Given the description of an element on the screen output the (x, y) to click on. 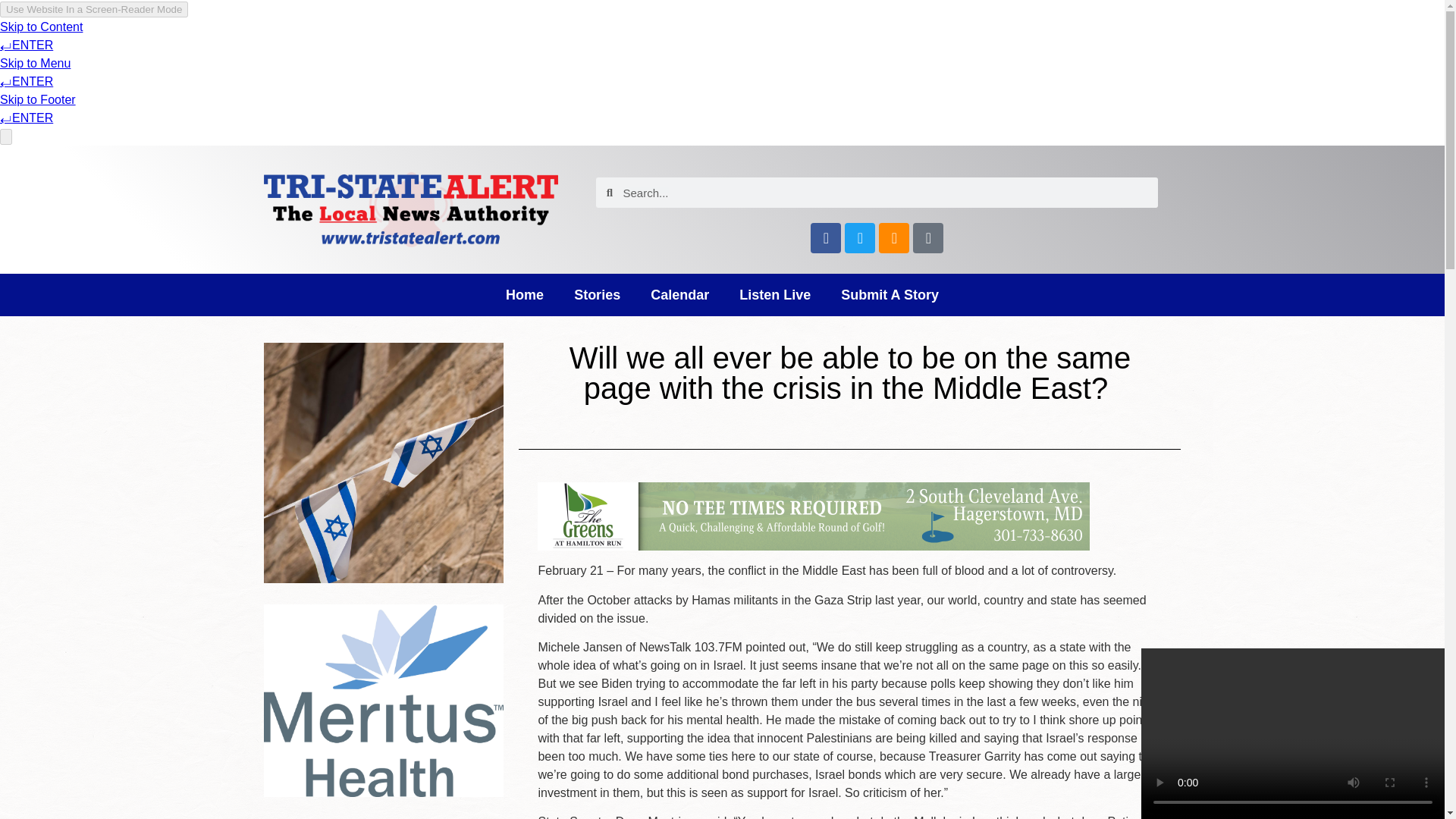
Home (524, 294)
Stories (596, 294)
Listen Live (774, 294)
Calendar (678, 294)
Submit A Story (889, 294)
